Given the description of an element on the screen output the (x, y) to click on. 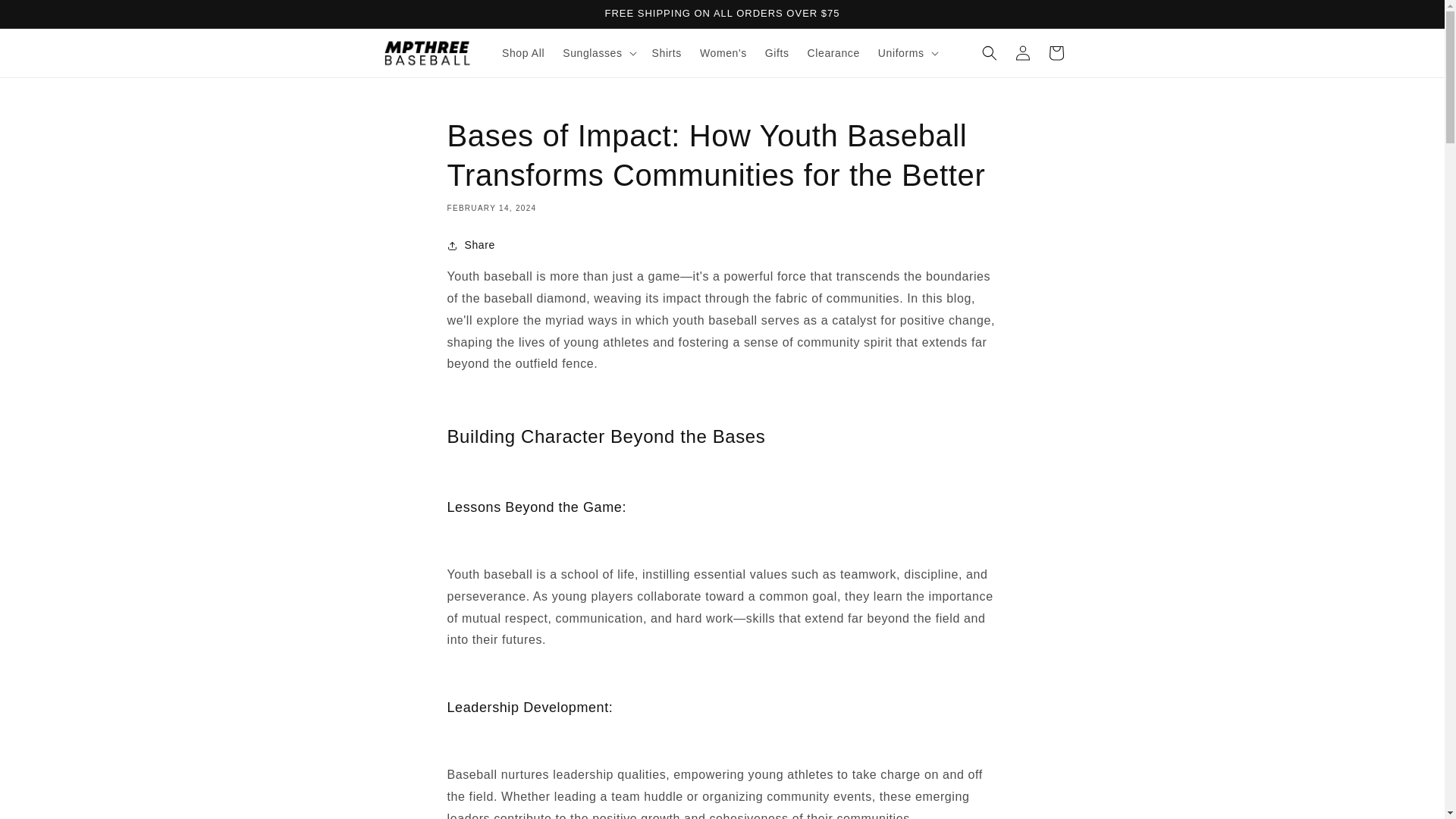
Clearance (833, 52)
Log in (1022, 52)
Shop All (523, 52)
Shirts (666, 52)
Cart (1055, 52)
Skip to content (45, 17)
Gifts (776, 52)
Women's (722, 52)
